Given the description of an element on the screen output the (x, y) to click on. 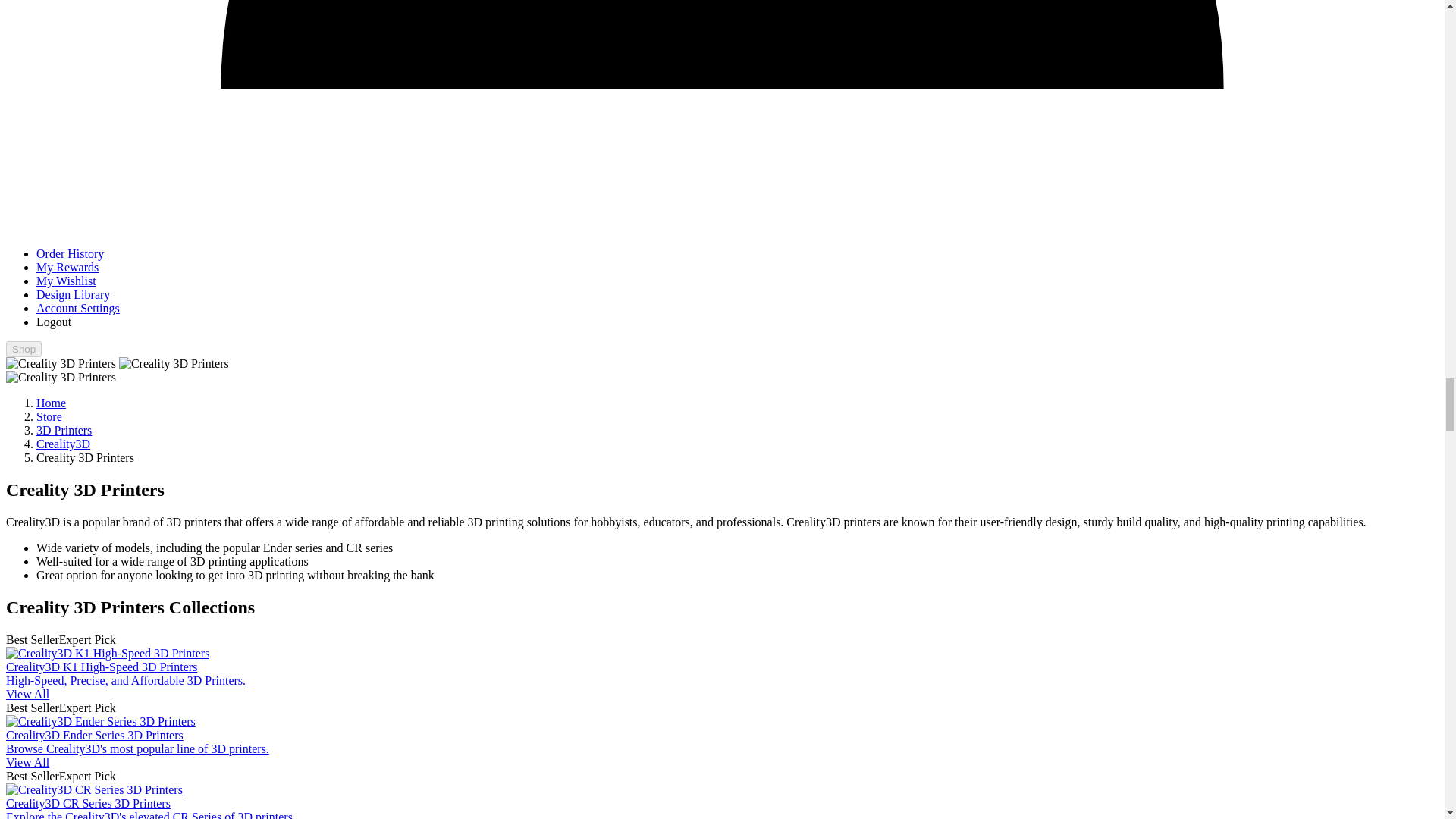
Design Library (73, 294)
Account Settings (77, 308)
Creality 3D Printers (60, 377)
Shop (23, 349)
Order History (69, 253)
Creality3D CR Series 3D Printers (94, 789)
Creality 3D Printers (60, 364)
My Wishlist (66, 280)
Creality 3D Printers (173, 364)
Creality3D K1 High-Speed 3D Printers (107, 653)
Creality3D Ender Series 3D Printers (100, 721)
My Rewards (67, 267)
